Given the description of an element on the screen output the (x, y) to click on. 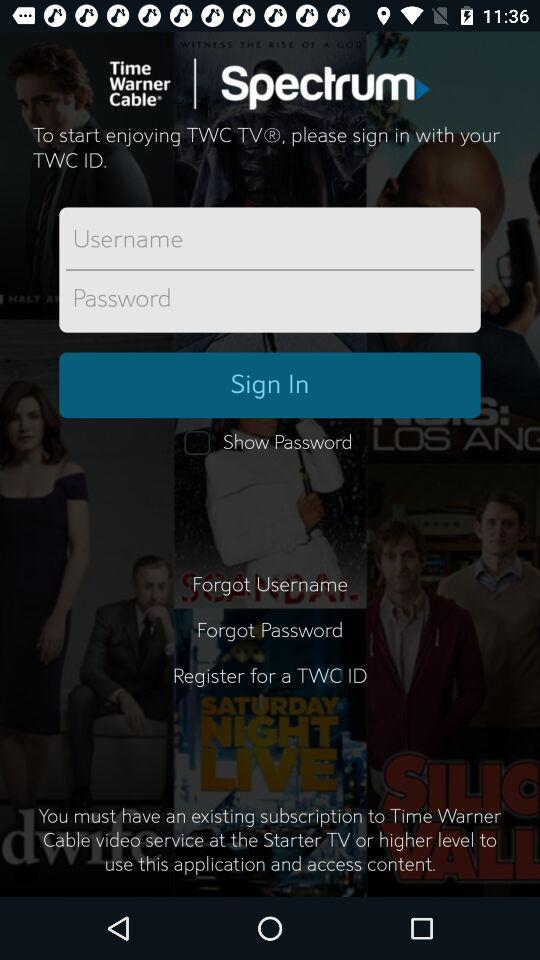
open the icon below the sign in (269, 443)
